Given the description of an element on the screen output the (x, y) to click on. 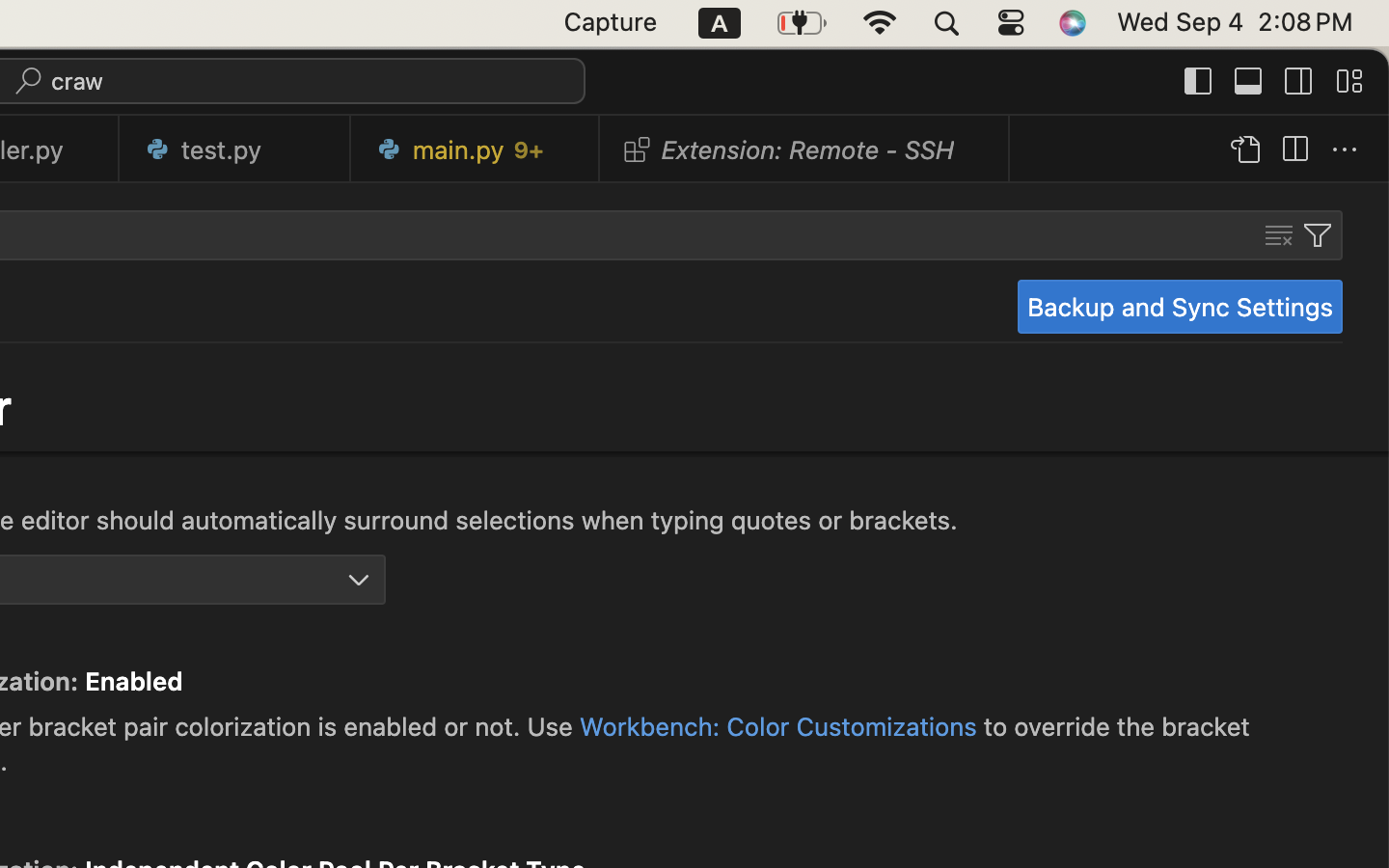
 Element type: AXCheckBox (1248, 80)
 Element type: AXCheckBox (1198, 80)
 Element type: AXButton (1349, 80)
0 test.py   Element type: AXRadioButton (235, 149)
 Element type: AXButton (1278, 235)
